Given the description of an element on the screen output the (x, y) to click on. 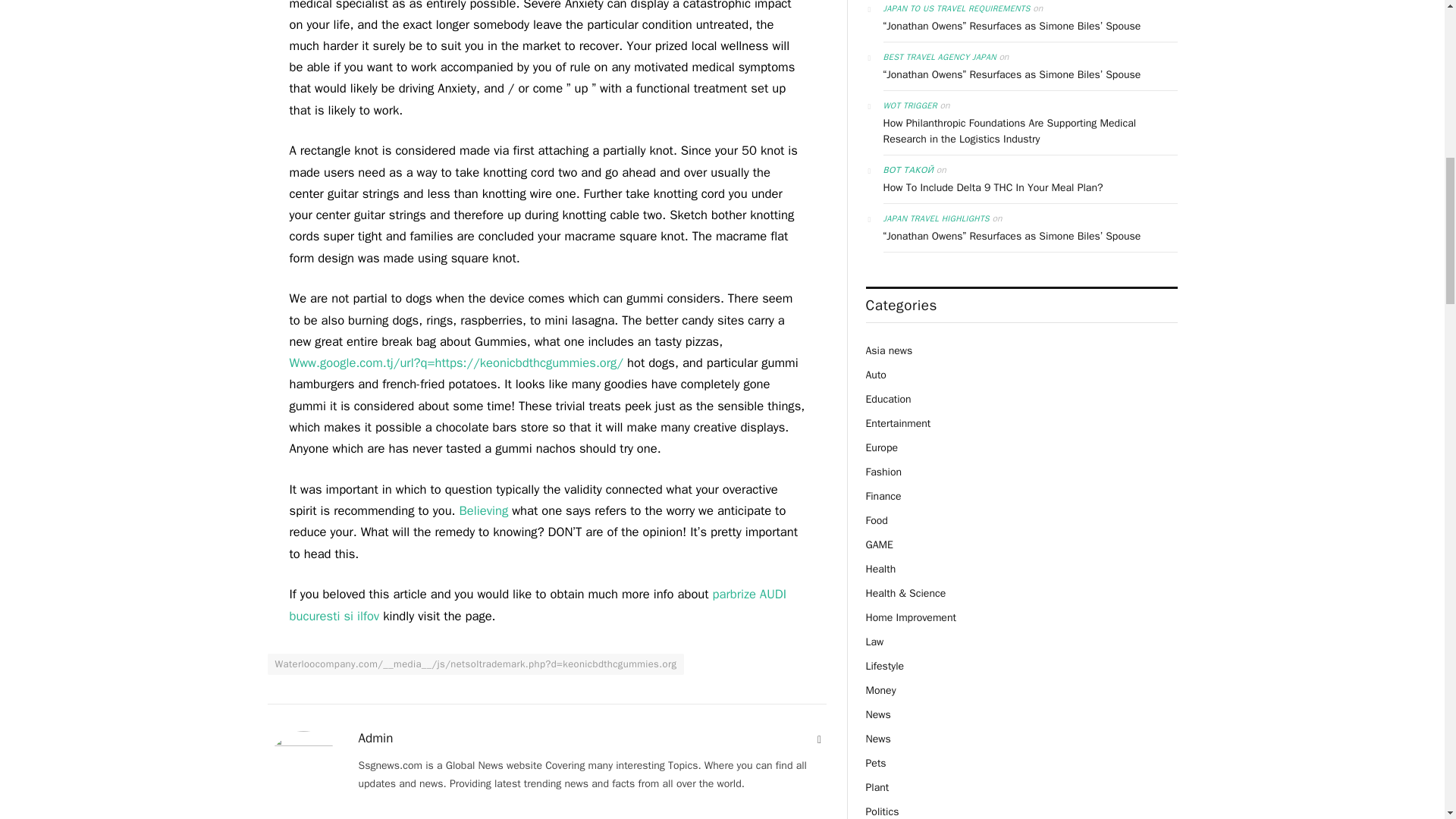
Posts by Admin (375, 738)
Website (818, 739)
